Given the description of an element on the screen output the (x, y) to click on. 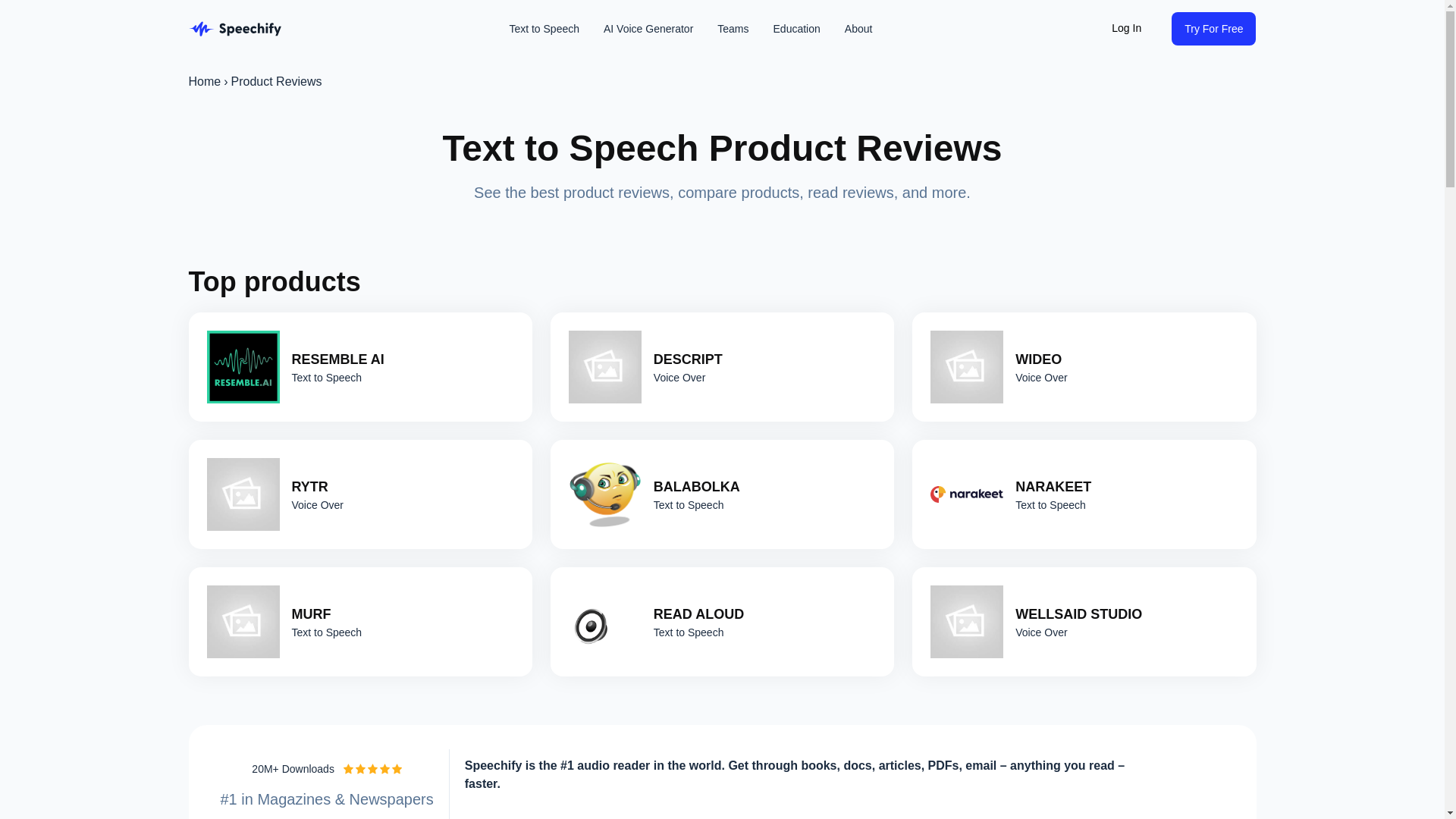
Text to Speech (543, 28)
Log In (1126, 28)
Education (796, 28)
AI Voice Generator (647, 28)
Try For Free (1213, 28)
Teams (732, 28)
About (858, 28)
Home (204, 81)
